Given the description of an element on the screen output the (x, y) to click on. 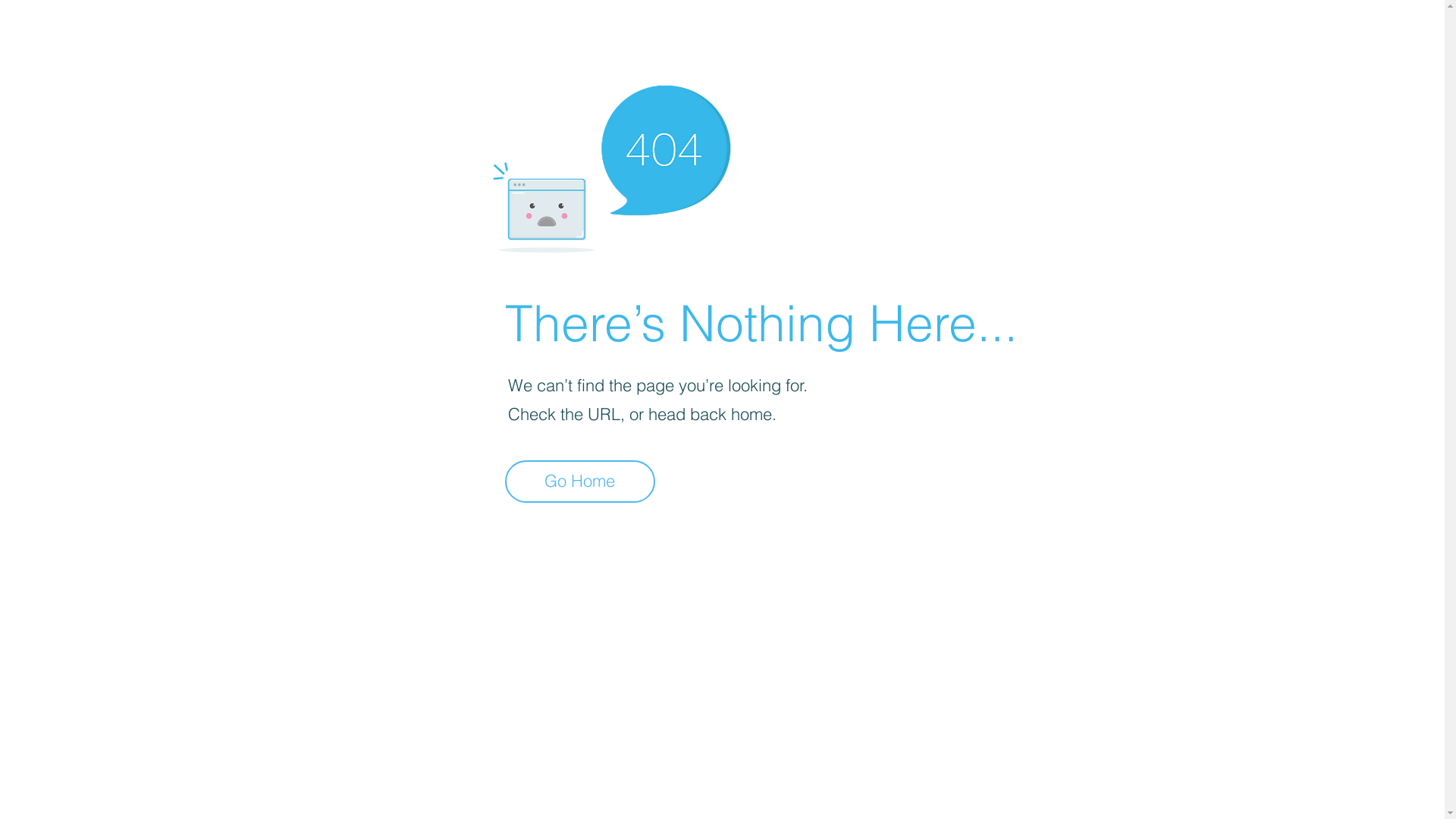
404-icon_2.png Element type: hover (610, 164)
Go Home Element type: text (580, 481)
